Given the description of an element on the screen output the (x, y) to click on. 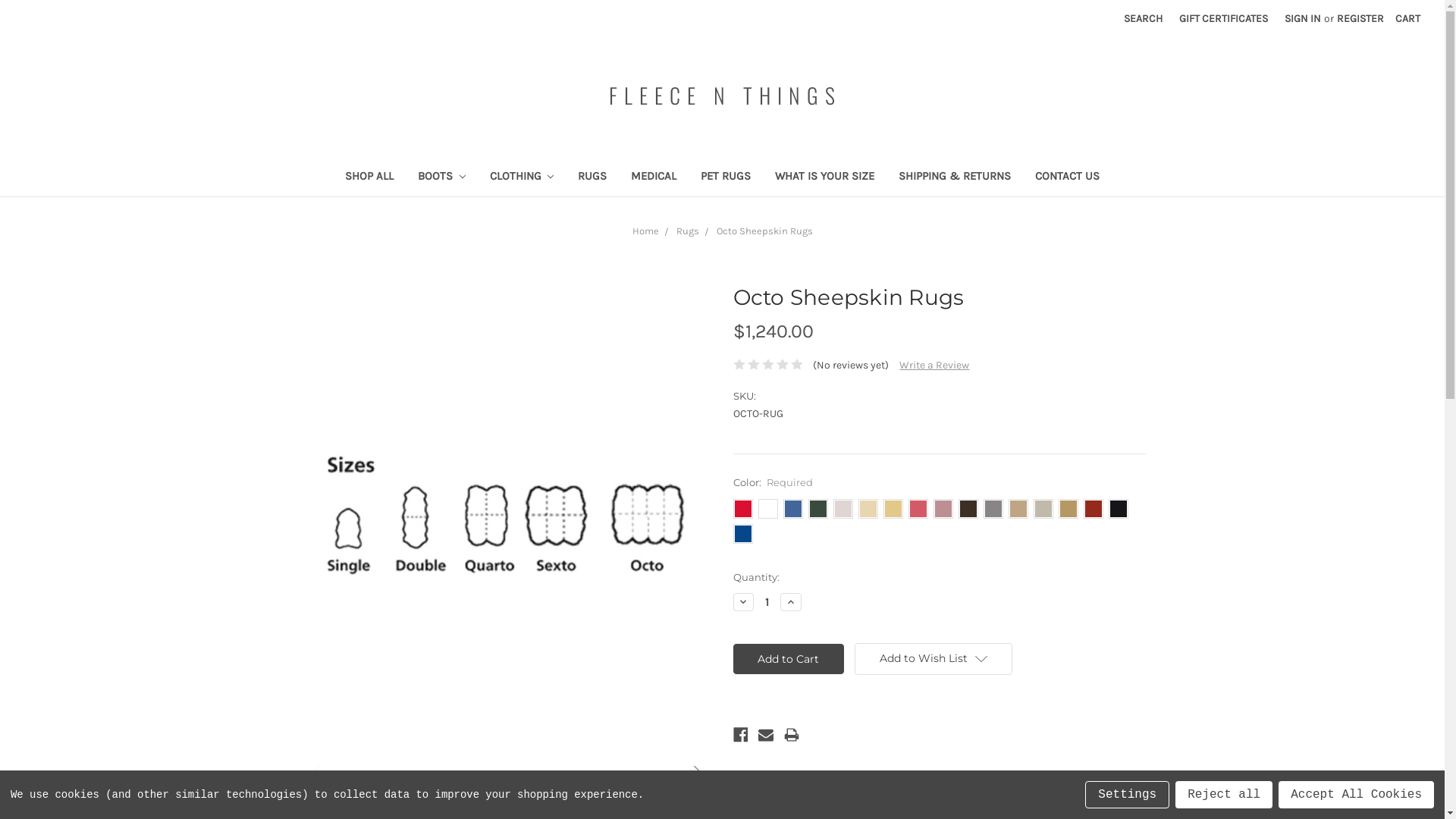
Write a Review Element type: text (934, 364)
CART Element type: text (1407, 18)
Chocolate Element type: hover (649, 798)
Octo Sheepskin Rugs Element type: text (763, 230)
Description Element type: text (779, 791)
Increase Quantity: Element type: text (790, 602)
Charcoal Tip Element type: hover (1042, 508)
GIFT CERTIFICATES Element type: text (1223, 18)
Decrease Quantity: Element type: text (742, 602)
Home Element type: text (645, 230)
PET RUGS Element type: text (725, 177)
Octo Sheepskin Rugs Element type: hover (504, 515)
White Element type: hover (505, 798)
Octo Sheepskin Rugs Element type: hover (361, 798)
Golden Element type: hover (892, 508)
RUGS Element type: text (591, 177)
Charcoal Element type: hover (992, 508)
BOOTS Element type: text (441, 177)
Previous Element type: text (310, 778)
CLOTHING Element type: text (521, 177)
Sunset Red Element type: hover (742, 508)
Black Element type: hover (577, 798)
Dusty Pink Element type: hover (942, 508)
SHOP ALL Element type: text (368, 177)
Chocolate Element type: hover (968, 508)
Add to Wish List Element type: text (933, 658)
Bright Brown Element type: hover (1092, 508)
Black Element type: hover (1118, 508)
Settings Element type: text (1127, 794)
Octo Sheepskin Rugs Element type: hover (433, 798)
Lilac Purple Element type: hover (842, 508)
SIGN IN Element type: text (1302, 18)
Add to Cart Element type: text (788, 658)
Fuschia Element type: hover (918, 508)
Next Element type: text (700, 778)
Navy Blue Element type: hover (792, 508)
MEDICAL Element type: text (653, 177)
Reject all Element type: text (1223, 794)
SEARCH Element type: text (1142, 18)
Alaska Blue Element type: hover (742, 533)
Accept All Cookies Element type: text (1356, 794)
Rugs Element type: text (687, 230)
SHIPPING & RETURNS Element type: text (954, 177)
Ivory Element type: hover (867, 508)
CONTACT US Element type: text (1066, 177)
Meadow Green Element type: hover (817, 508)
Chocolate Tip Element type: hover (1018, 508)
Camel Element type: hover (1068, 508)
WHAT IS YOUR SIZE Element type: text (824, 177)
REGISTER Element type: text (1360, 18)
White Element type: hover (767, 508)
